Given the description of an element on the screen output the (x, y) to click on. 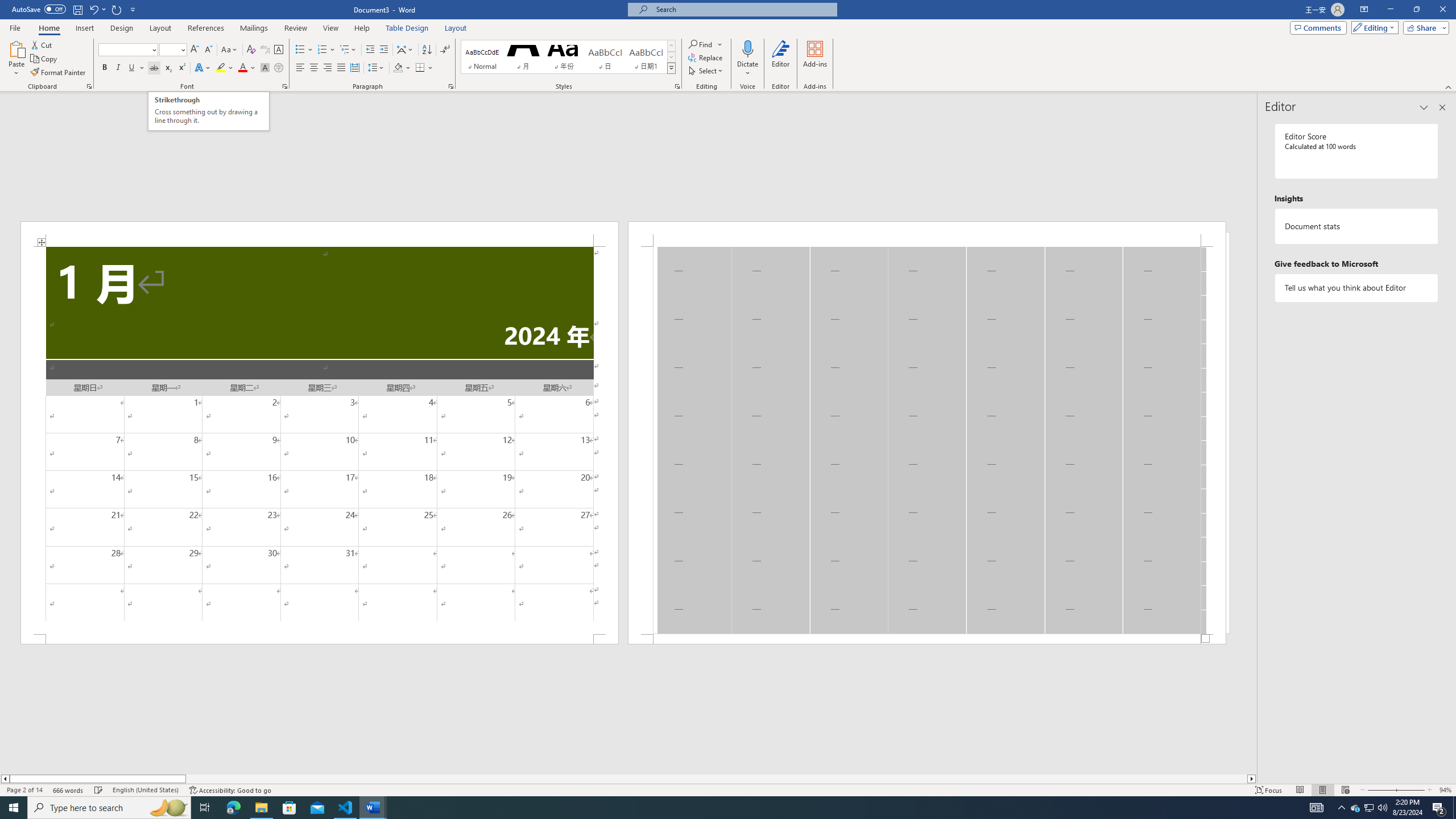
Tell us what you think about Editor (1356, 288)
